Given the description of an element on the screen output the (x, y) to click on. 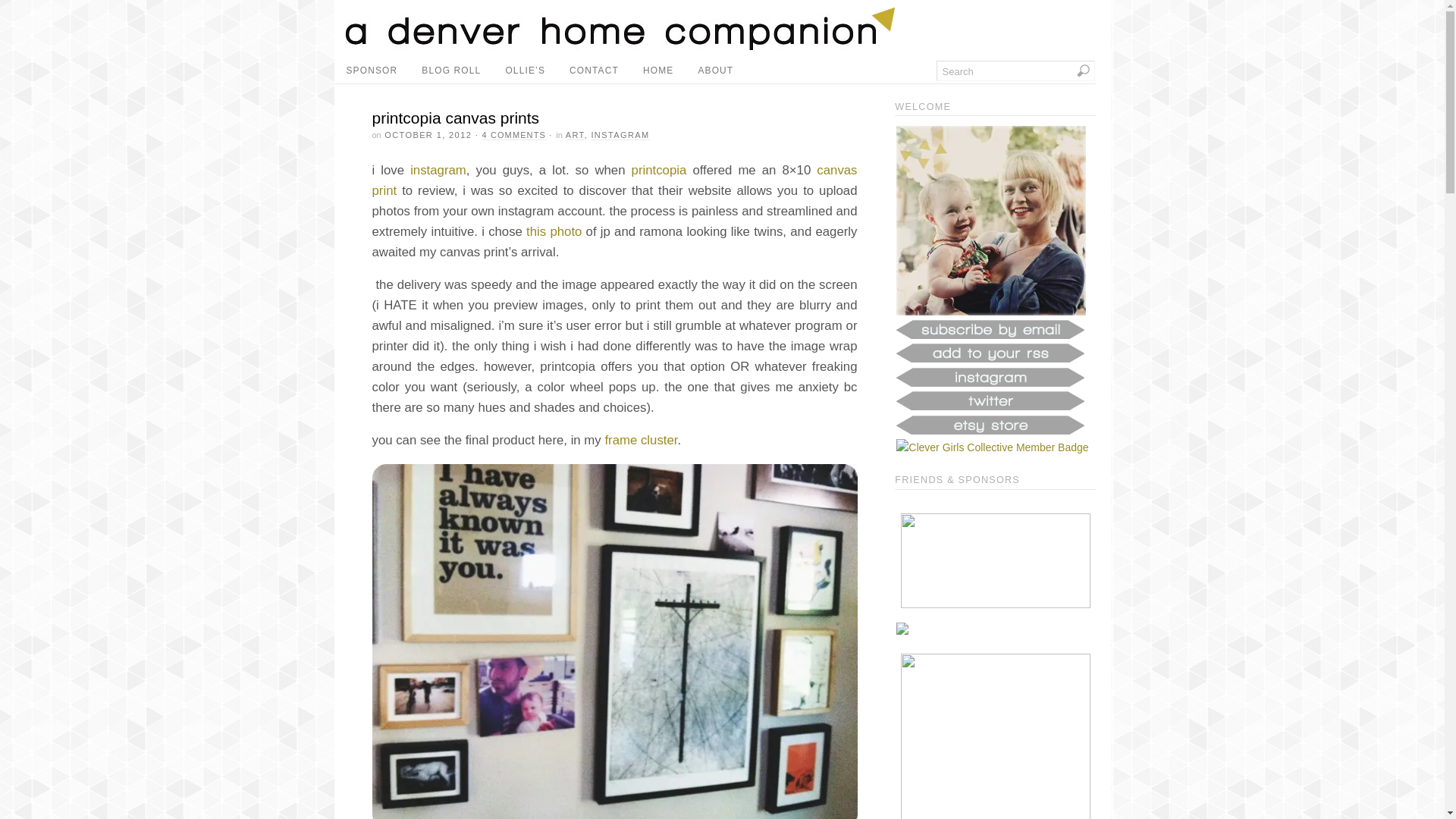
A DENVER HOME COMPANION (620, 46)
frame cluster (640, 440)
Search (1015, 70)
printcopia (659, 169)
Search (1015, 70)
BLOG ROLL (451, 70)
instagram (437, 169)
this photo (552, 231)
INSTAGRAM (620, 135)
CONTACT (593, 70)
2012-10-01T05:21:36-0700 (427, 134)
SPONSOR (371, 70)
canvas print (614, 180)
4 COMMENTS (513, 135)
ABOUT (715, 70)
